Given the description of an element on the screen output the (x, y) to click on. 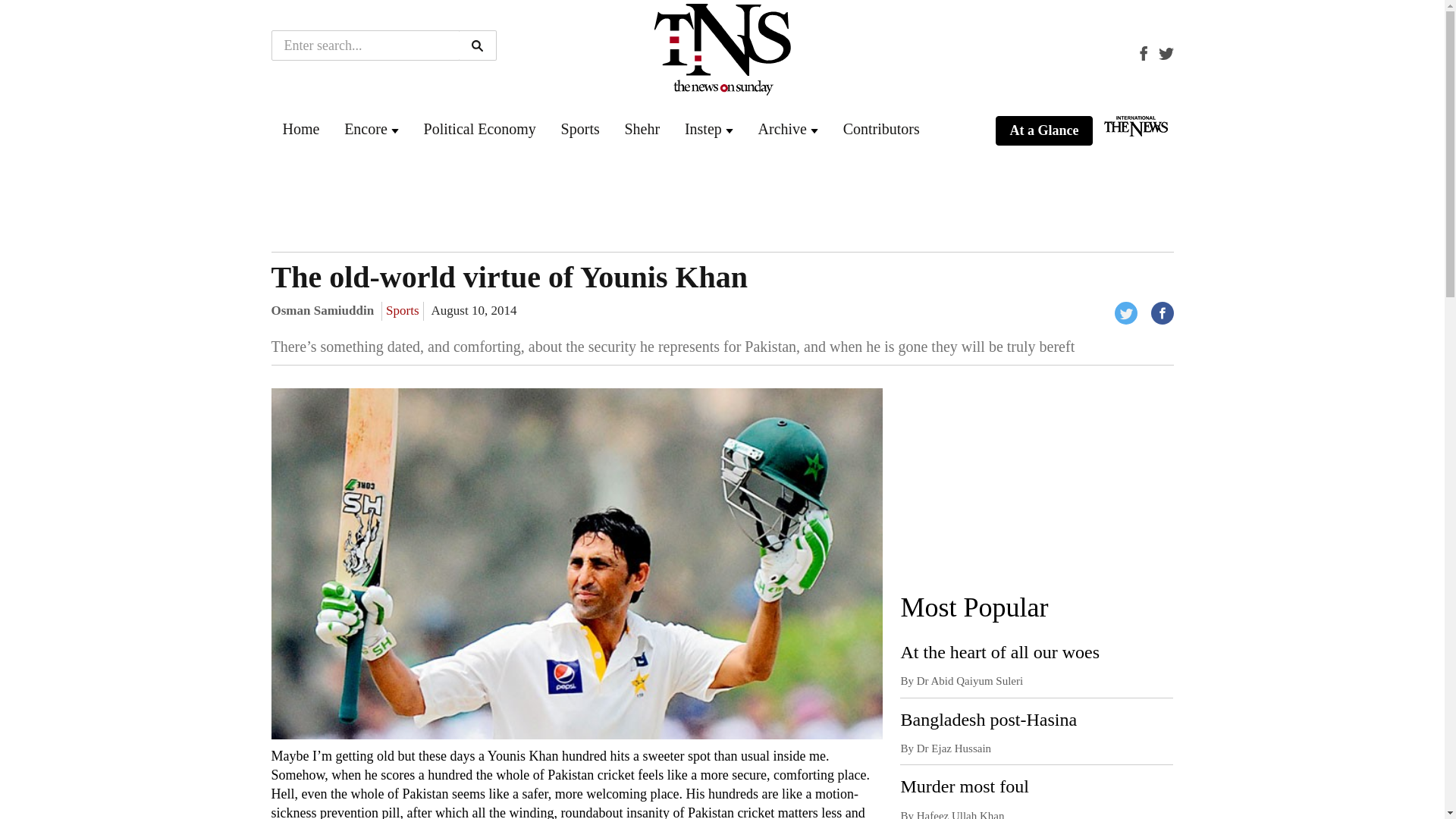
Shehr (641, 128)
By Dr Abid Qaiyum Suleri (961, 680)
At a Glance (1043, 131)
Instep (703, 128)
Contributors (881, 128)
By Dr Ejaz Hussain (945, 748)
Bangladesh post-Hasina (988, 719)
Political Economy (479, 128)
Sports (579, 128)
Shehr (641, 128)
